Given the description of an element on the screen output the (x, y) to click on. 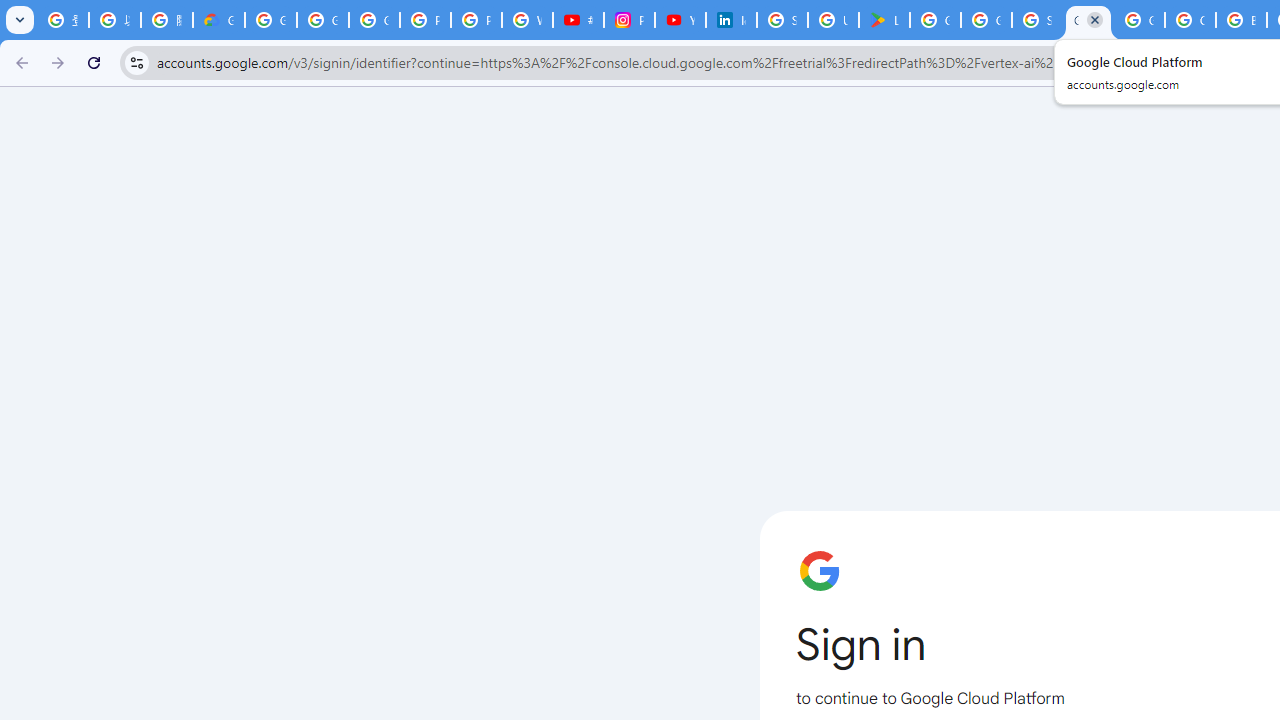
Browse Chrome as a guest - Computer - Google Chrome Help (1241, 20)
Google Cloud Platform (1087, 20)
Sign in - Google Accounts (781, 20)
#nbabasketballhighlights - YouTube (578, 20)
YouTube Culture & Trends - On The Rise: Handcam Videos (680, 20)
